Given the description of an element on the screen output the (x, y) to click on. 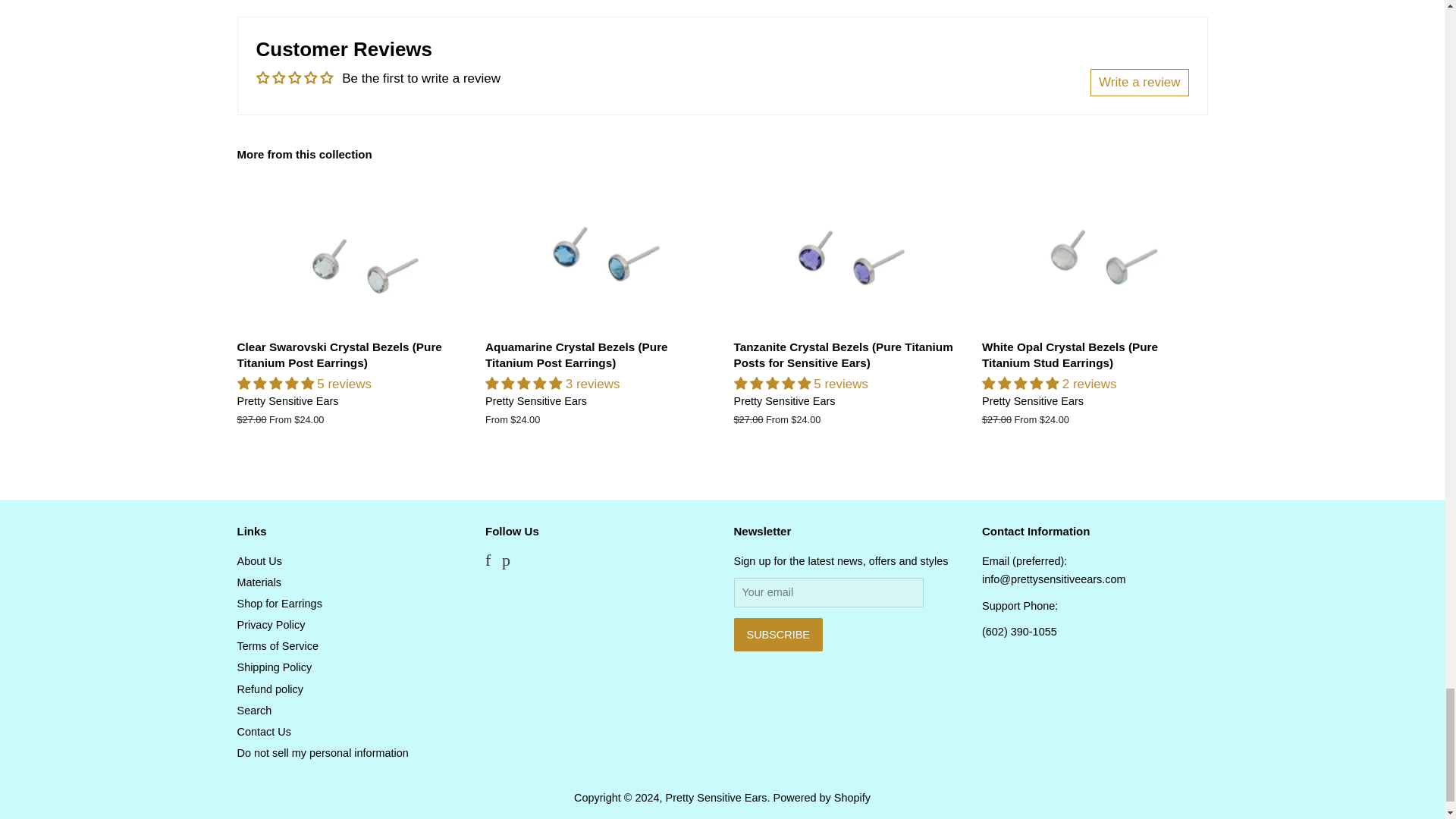
Subscribe (777, 634)
